Given the description of an element on the screen output the (x, y) to click on. 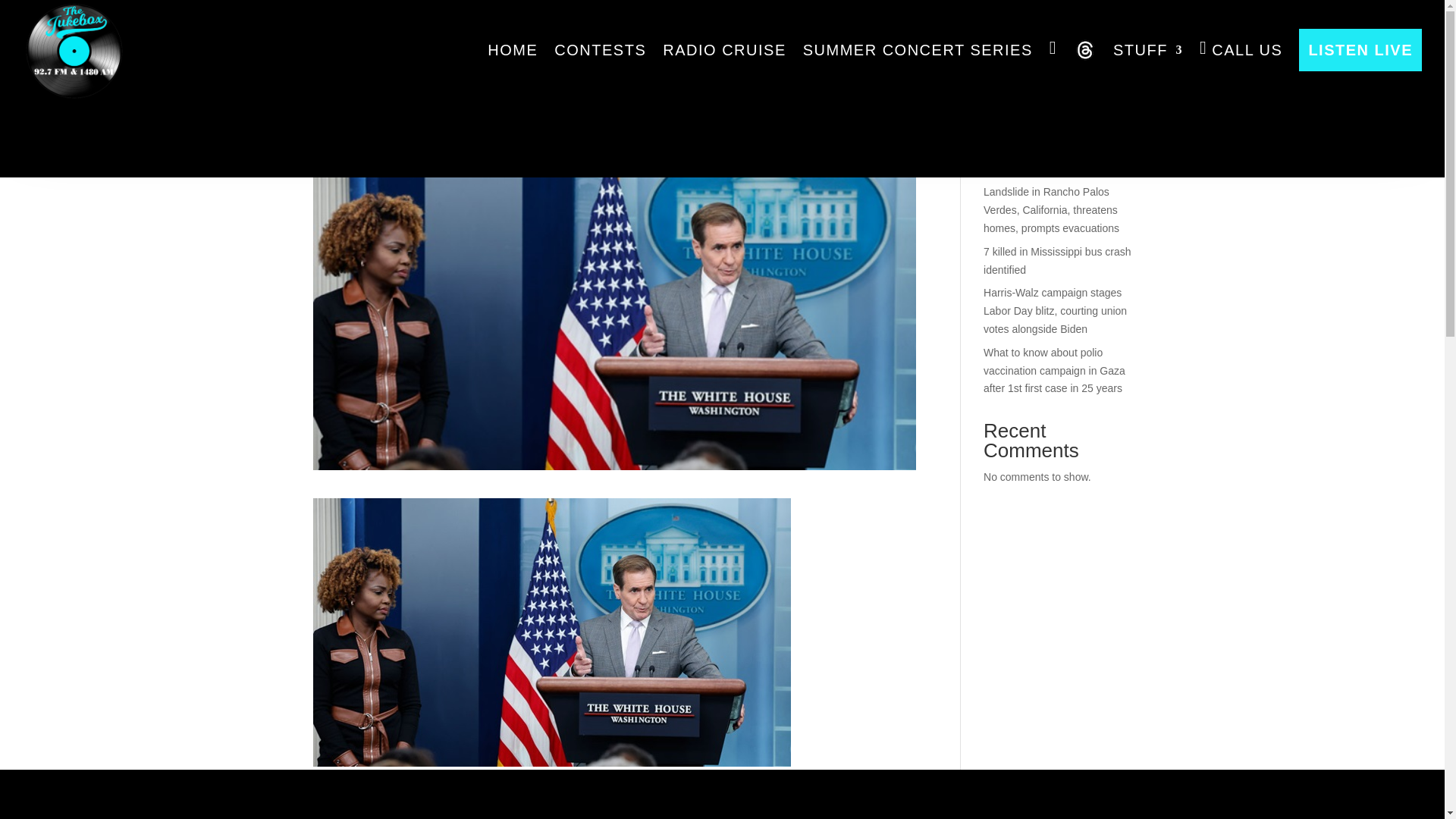
Posts by admin (340, 105)
LISTEN LIVE (1360, 49)
Search (1106, 59)
RADIO CRUISE (724, 49)
7 killed in Mississippi bus crash identified (1057, 260)
3rd party ad content (721, 86)
Politics (450, 105)
SUMMER CONCERT SERIES (917, 49)
